Given the description of an element on the screen output the (x, y) to click on. 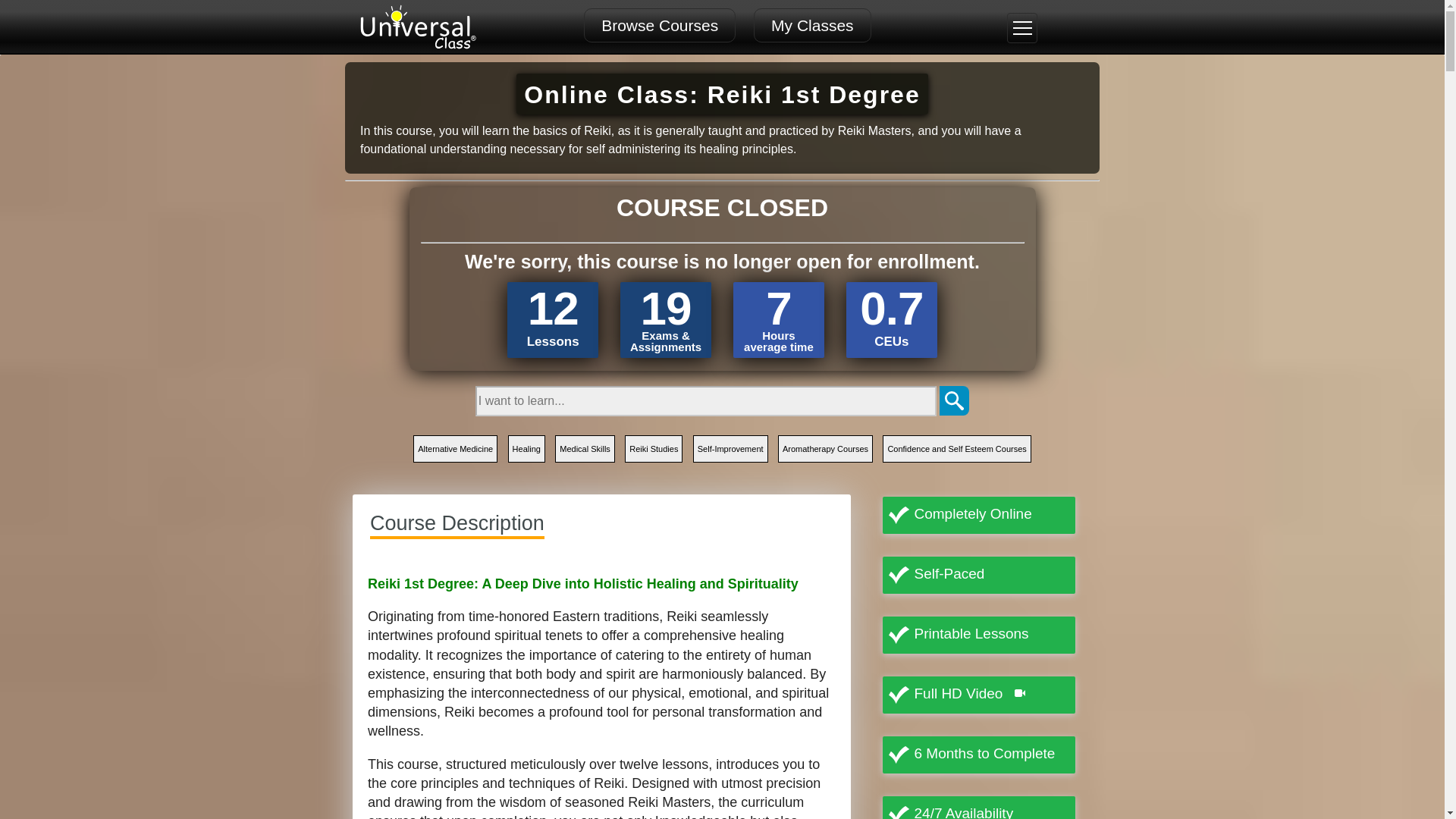
Healing (526, 448)
Self-Improvement (730, 448)
Alternative Medicine (455, 448)
My Classes (812, 25)
Reiki Studies (653, 448)
Medical Skills (584, 448)
Confidence and Self Esteem Courses (956, 448)
Browse Courses (659, 25)
Aromatherapy Courses (824, 448)
